Given the description of an element on the screen output the (x, y) to click on. 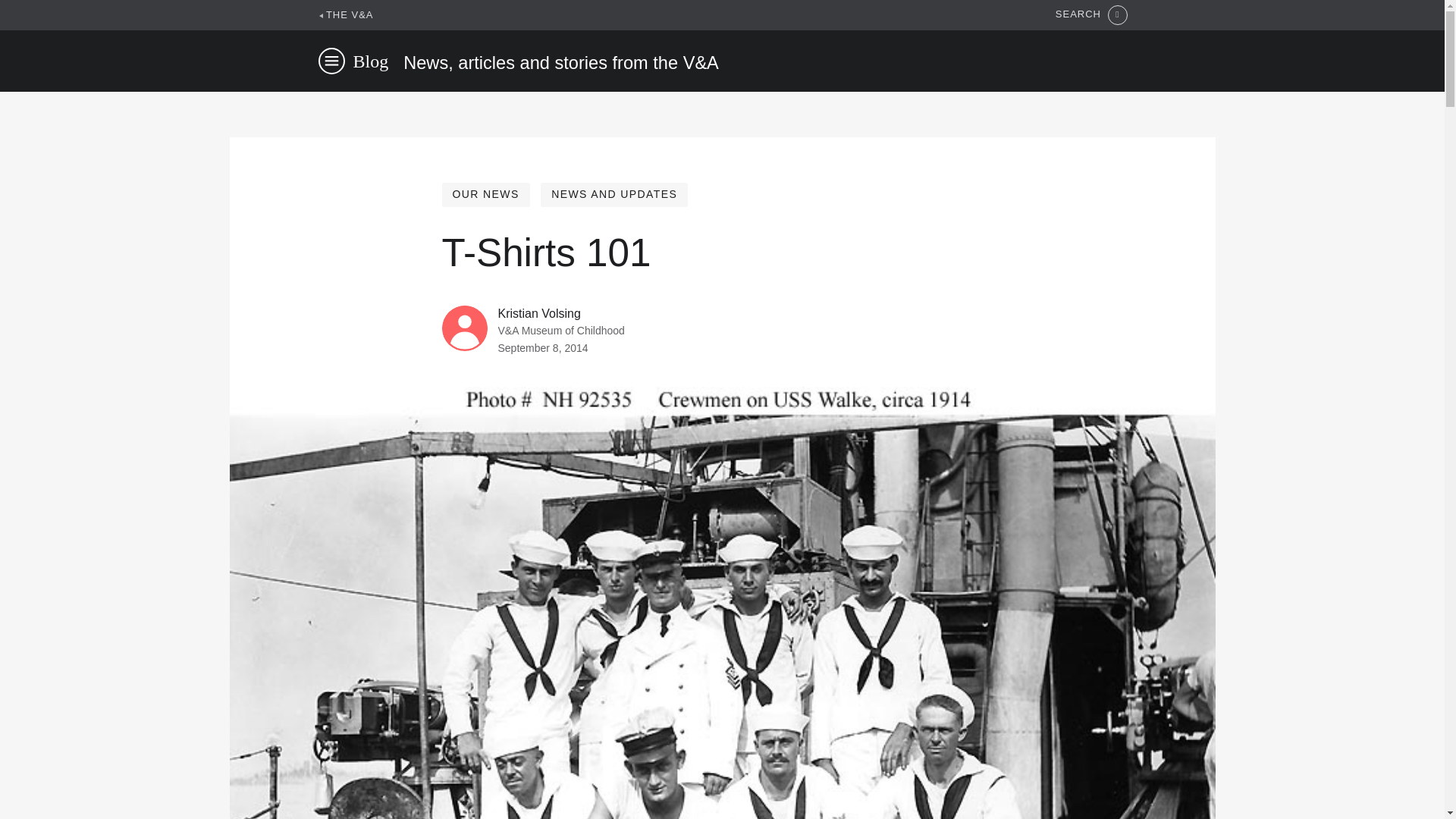
Kristian Volsing (538, 313)
SEARCH (1090, 15)
Blog (370, 60)
NEWS AND UPDATES (613, 194)
OUR NEWS (485, 194)
Posts by Kristian Volsing (538, 313)
